Given the description of an element on the screen output the (x, y) to click on. 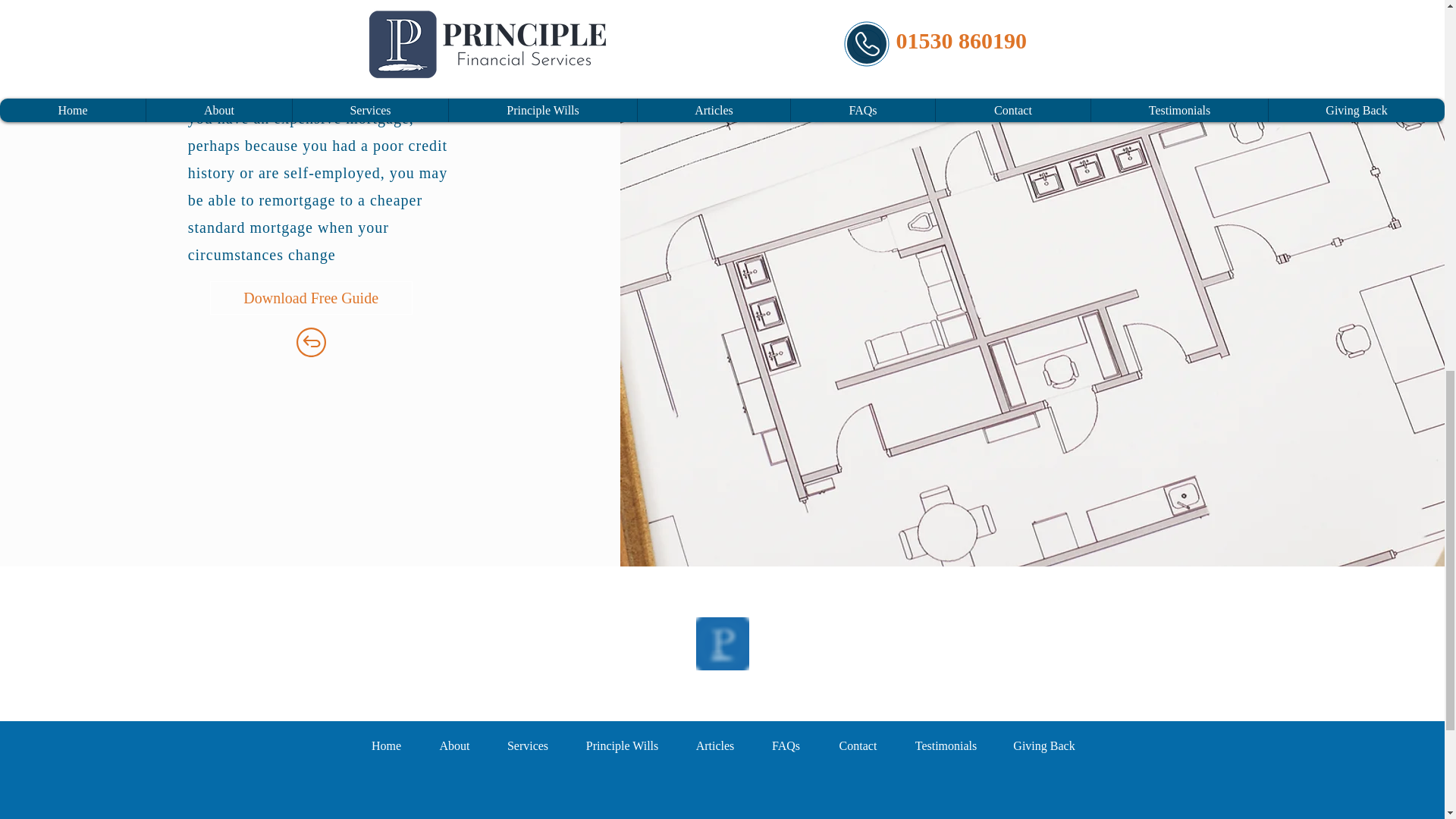
Download Free Guide (310, 297)
Services (526, 745)
About (453, 745)
Testimonials (945, 745)
Principle Wills (622, 745)
Giving Back (1043, 745)
FAQs (785, 745)
Articles (715, 745)
Home (386, 745)
Contact (857, 745)
